Given the description of an element on the screen output the (x, y) to click on. 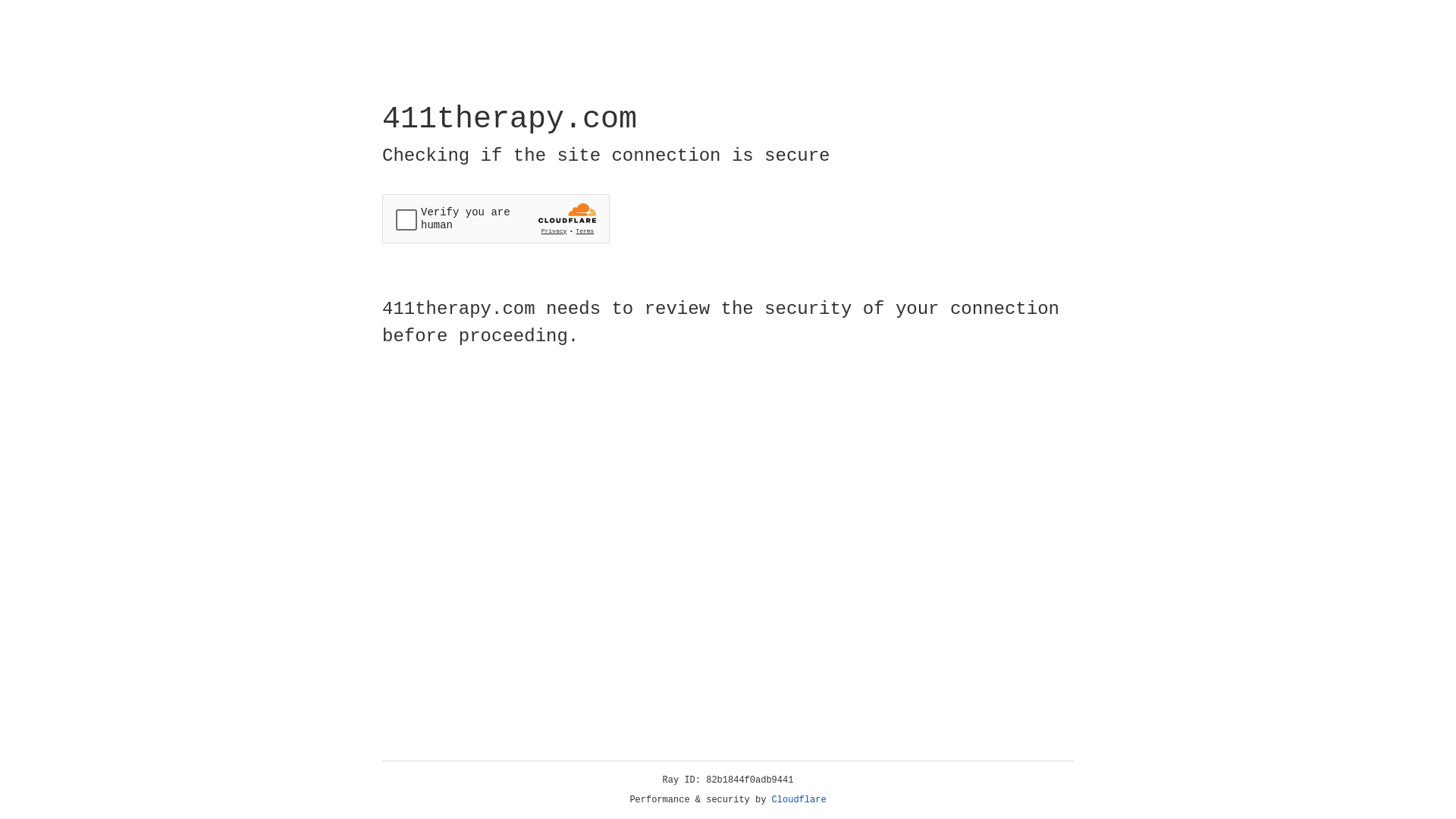
Widget containing a Cloudflare security challenge Element type: hover (495, 218)
Cloudflare Element type: text (798, 799)
